Given the description of an element on the screen output the (x, y) to click on. 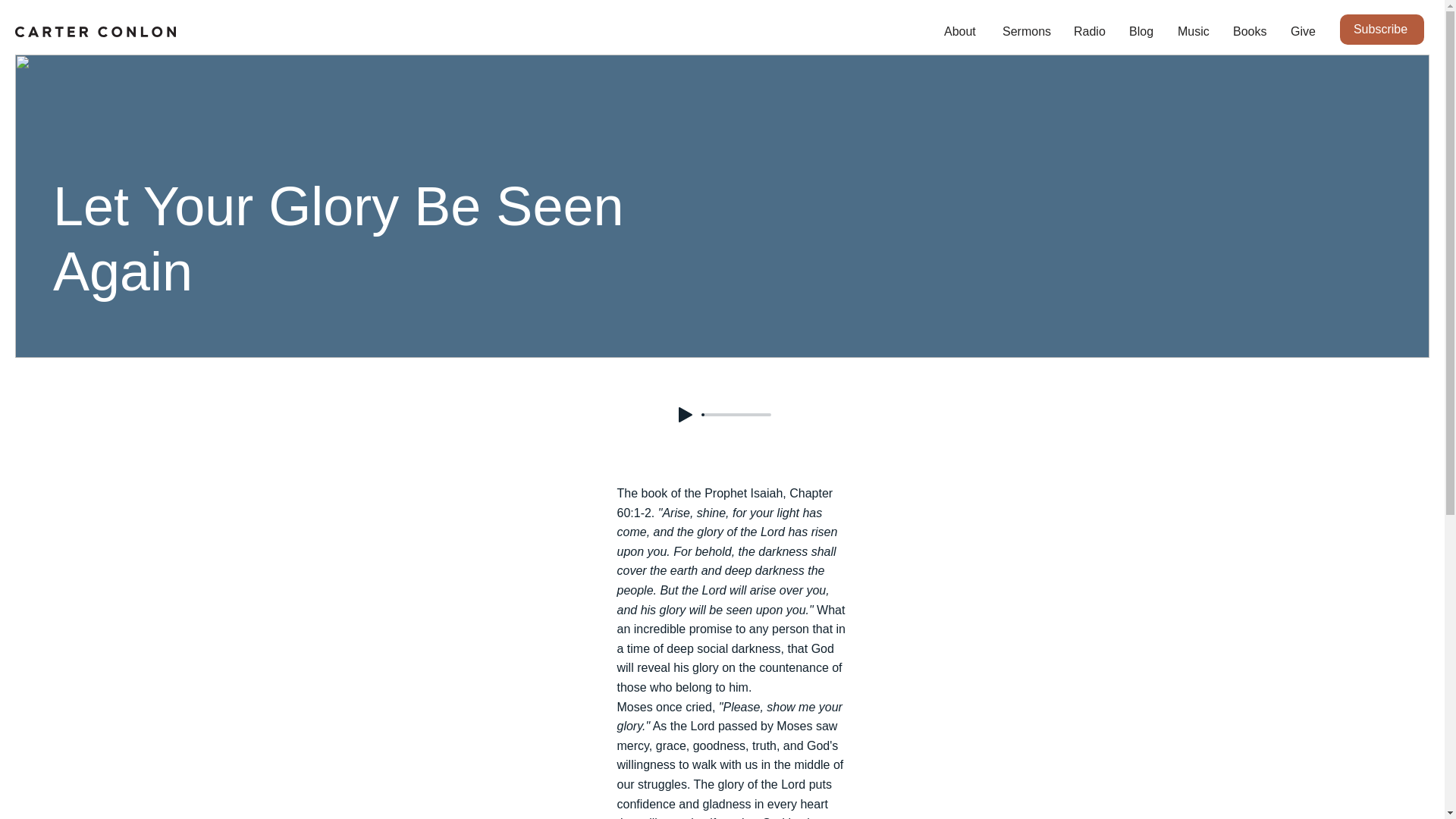
About (962, 31)
Books (1250, 31)
Blog (1142, 31)
0 (735, 414)
Radio (1090, 31)
Sermons (1026, 31)
Music (1193, 31)
Give (1302, 31)
Subscribe (1381, 29)
